Given the description of an element on the screen output the (x, y) to click on. 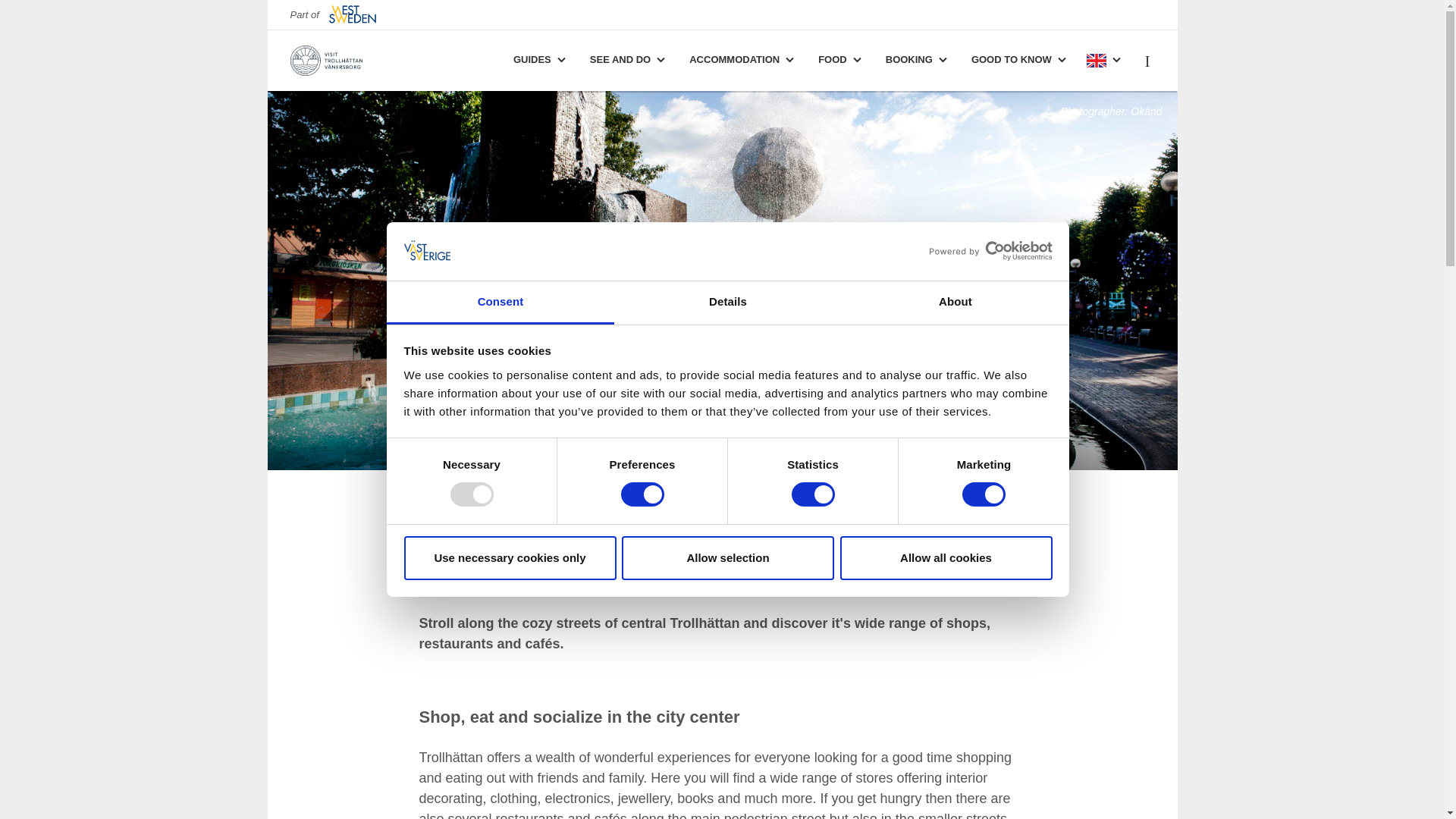
Consent (500, 302)
About (954, 302)
Details (727, 302)
